Given the description of an element on the screen output the (x, y) to click on. 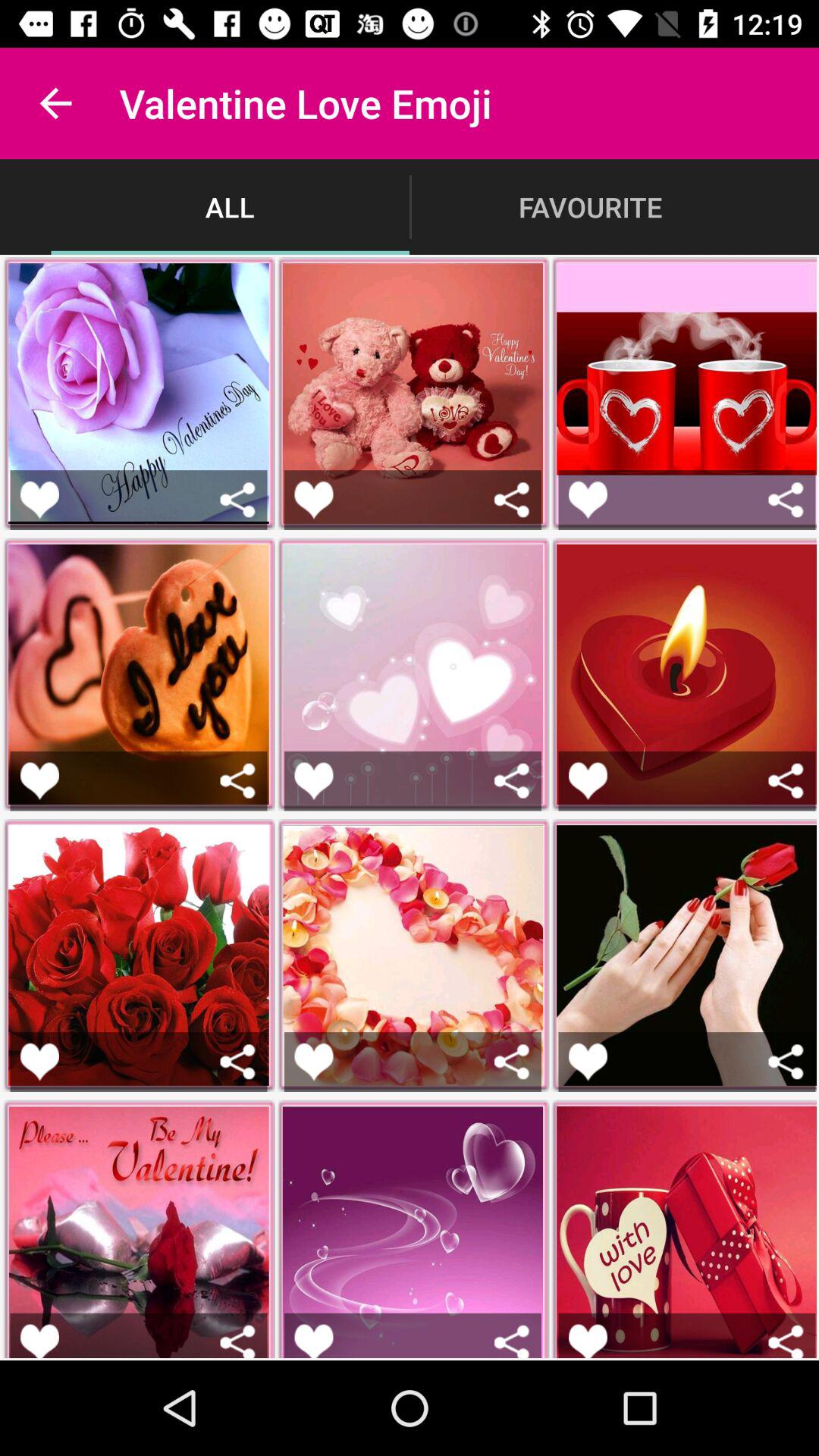
share the image (785, 780)
